Given the description of an element on the screen output the (x, y) to click on. 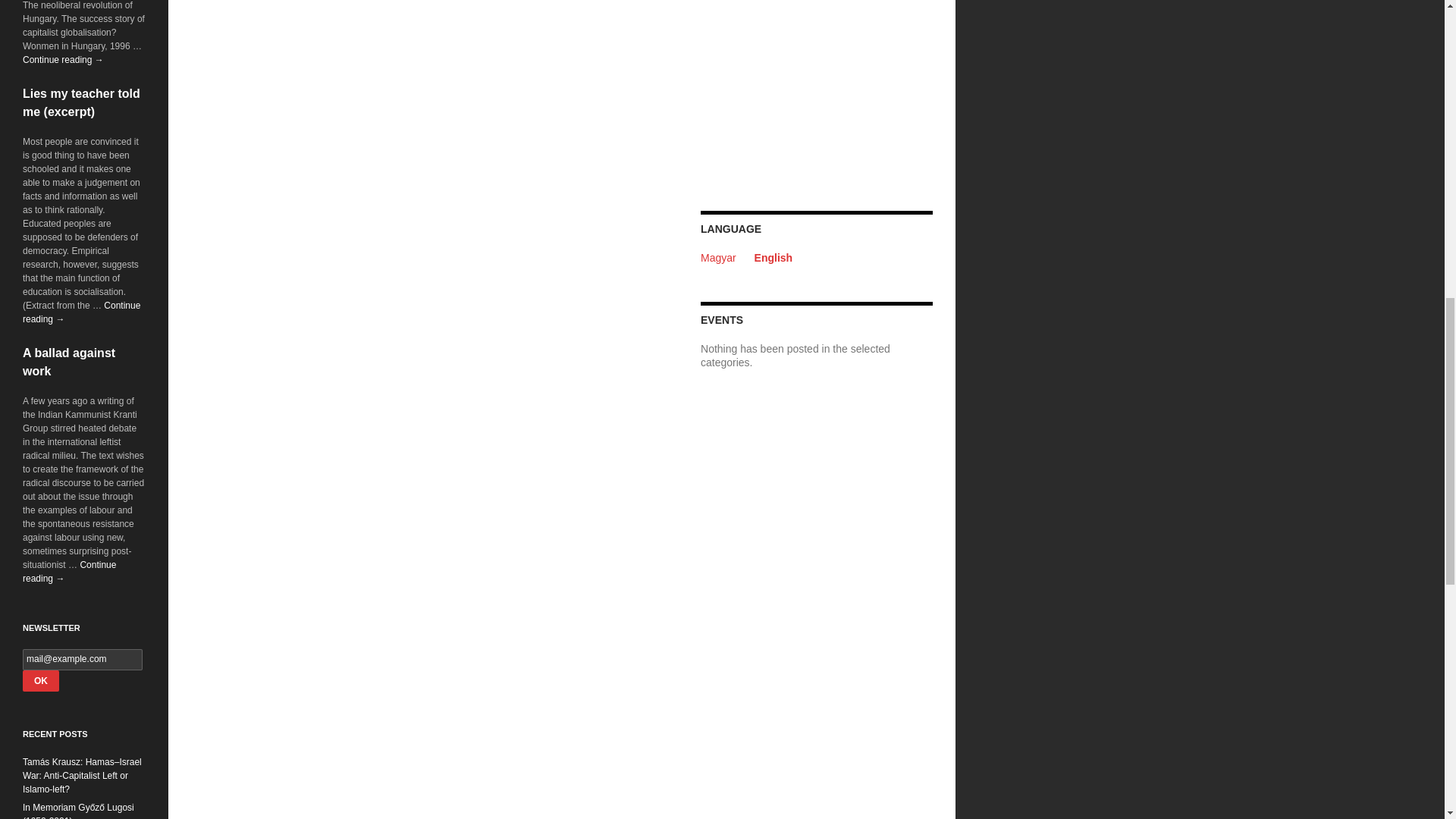
A ballad against work (69, 361)
Magyar (718, 257)
English (773, 257)
OK (41, 680)
